Given the description of an element on the screen output the (x, y) to click on. 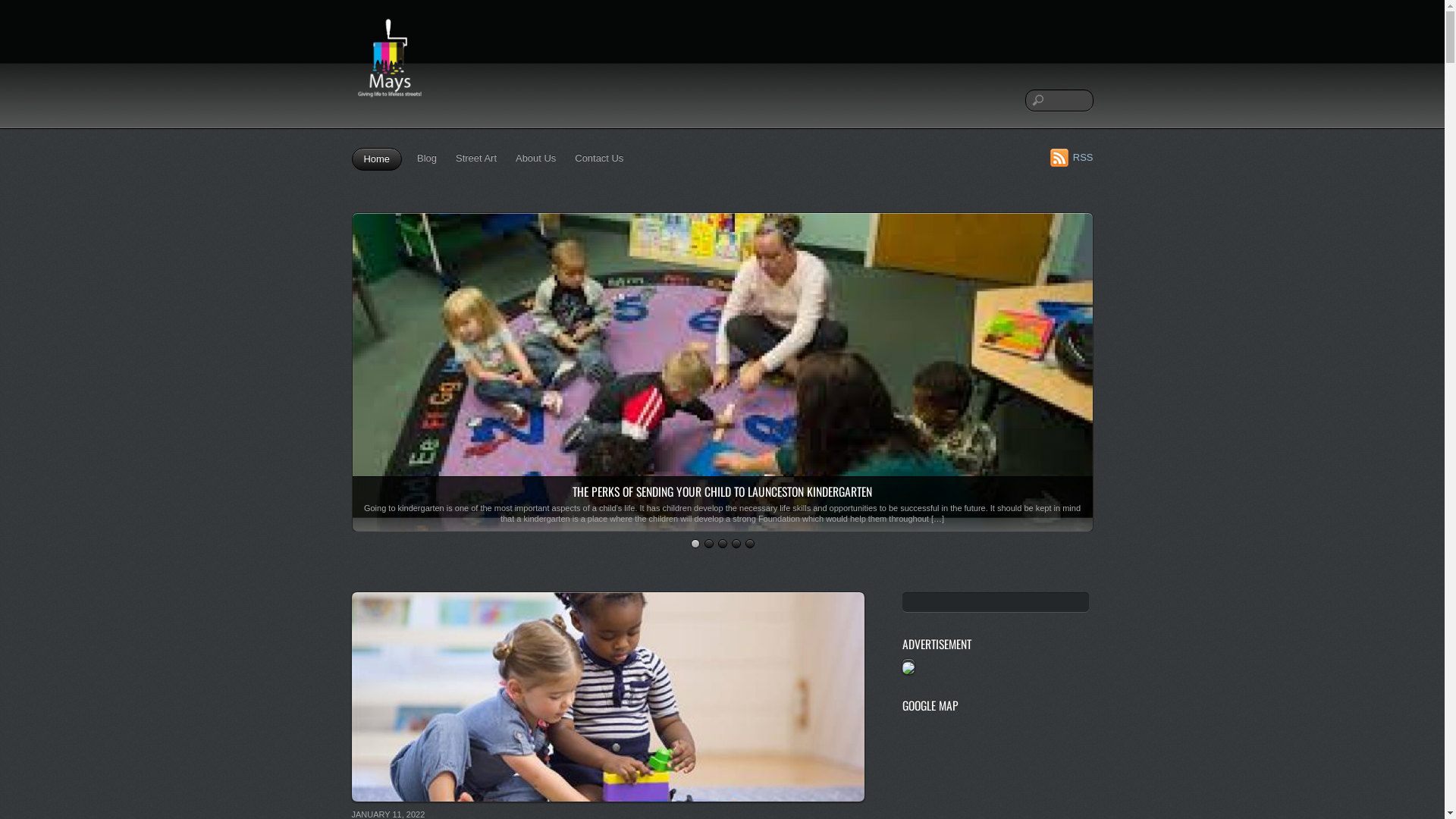
THE PERKS OF SENDING YOUR CHILD TO LAUNCESTON KINDERGARTEN Element type: text (722, 491)
Mays Element type: hover (389, 63)
About Us Element type: text (535, 158)
RSS Element type: text (1071, 156)
Search Element type: hover (995, 602)
Street Art Element type: text (475, 158)
Blog Element type: text (426, 158)
4 Element type: text (735, 543)
3 Element type: text (721, 543)
Contact Us Element type: text (599, 158)
2 Element type: text (707, 543)
Mays Element type: hover (389, 103)
Search Element type: hover (1059, 100)
The perks of sending your child to Launceston Kindergarten Element type: hover (721, 523)
5 Element type: text (748, 543)
Home Element type: text (376, 158)
1 Element type: text (694, 543)
